Given the description of an element on the screen output the (x, y) to click on. 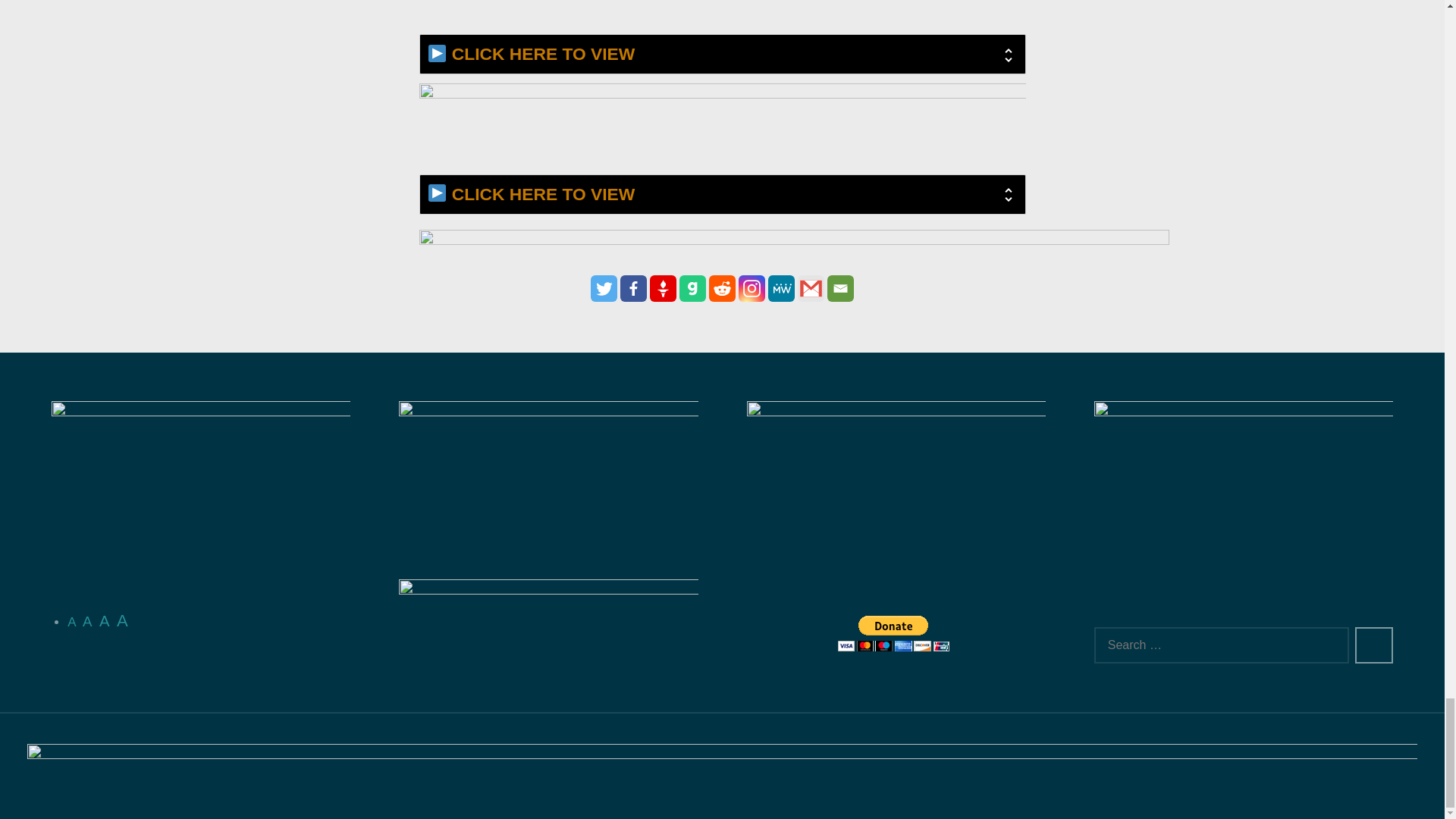
Gettr (663, 288)
Facebook (633, 288)
Twitter (604, 288)
Instagram (751, 288)
Gab (692, 288)
Reddit (722, 288)
